Given the description of an element on the screen output the (x, y) to click on. 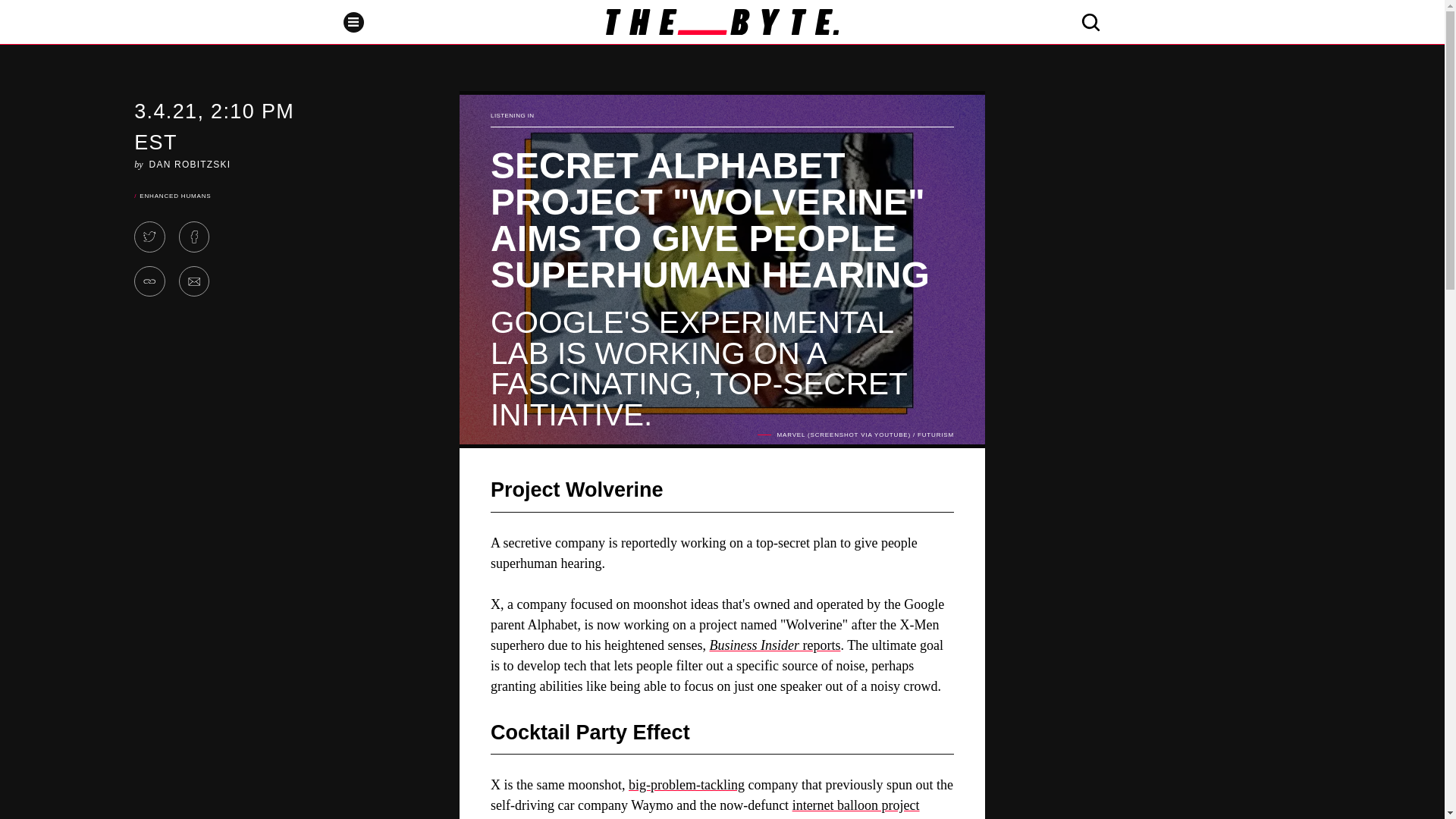
internet balloon project (856, 805)
Business Insider (754, 645)
Enhanced Humans (175, 195)
ENHANCED HUMANS (175, 195)
Dan Robitzski (190, 163)
Share via Email (194, 281)
Share to Facebook (194, 236)
big-problem-tackling (686, 784)
Copy Link (149, 281)
Tweet This (149, 236)
